Given the description of an element on the screen output the (x, y) to click on. 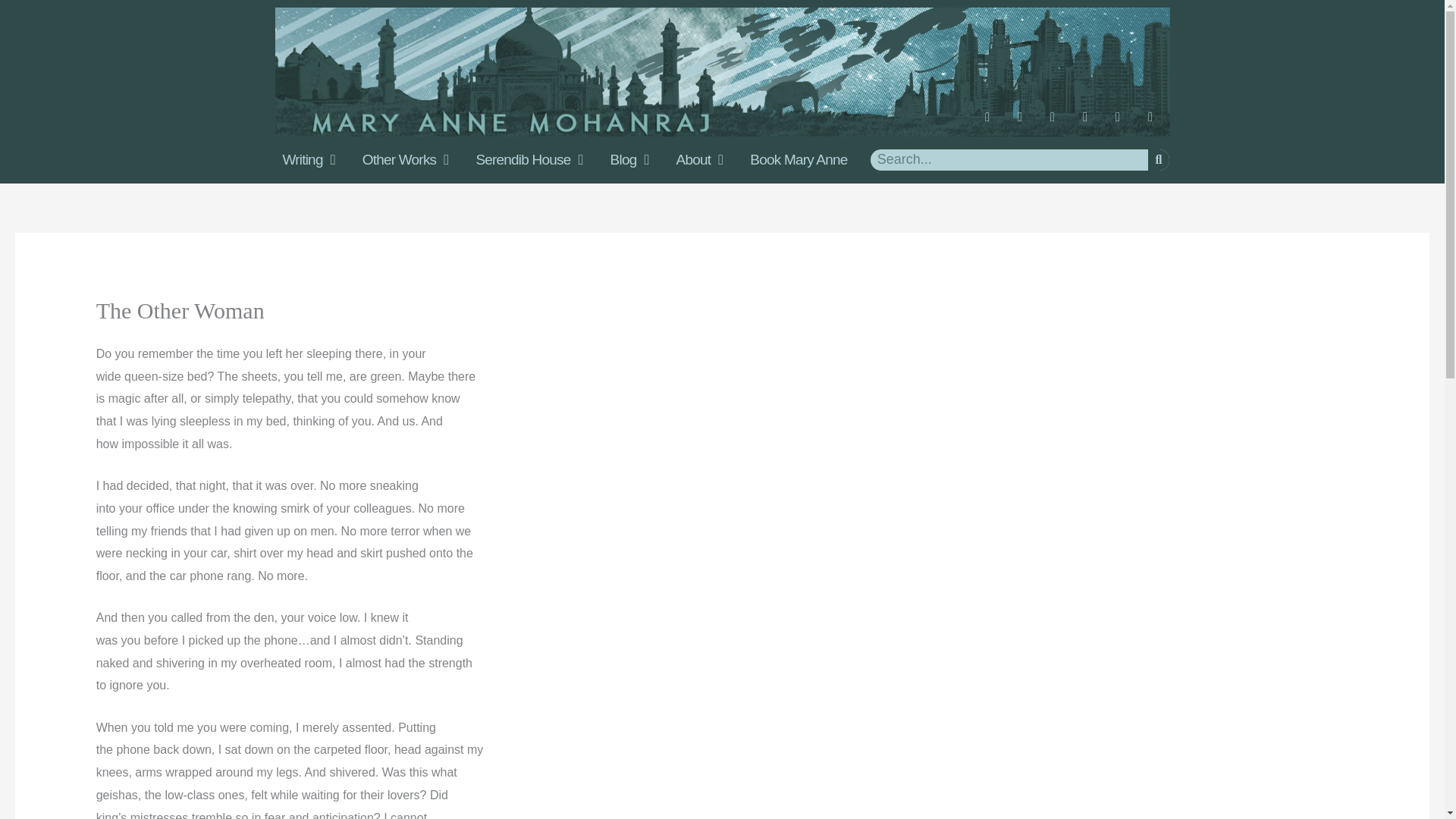
Writing (307, 159)
Shopping-bag (1155, 123)
About (699, 159)
Other Works (406, 159)
Youtube (1058, 123)
Patreon (1124, 123)
Blog (629, 159)
Twitter (1090, 123)
Serendib House (528, 159)
Facebook (994, 123)
